Given the description of an element on the screen output the (x, y) to click on. 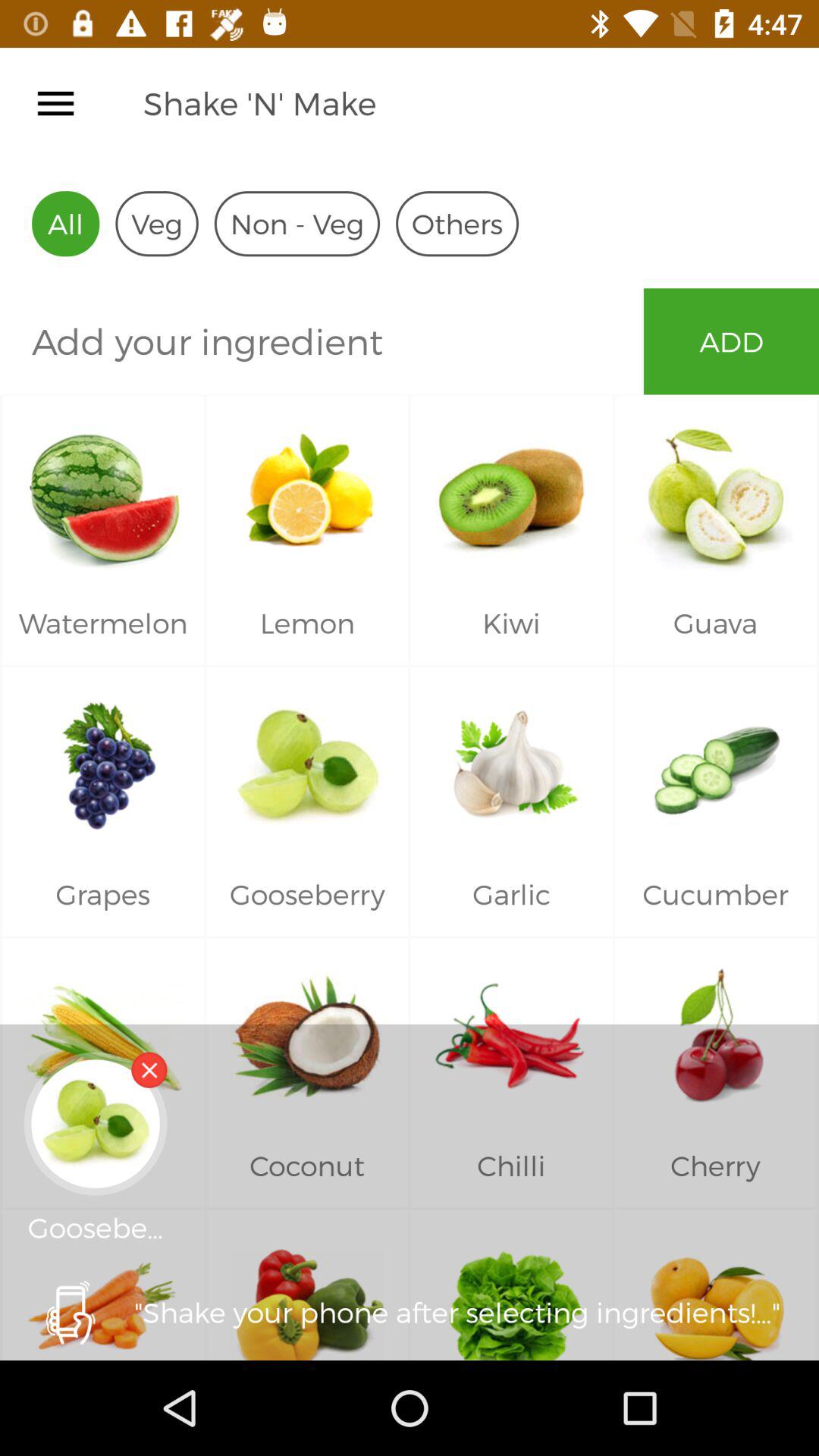
delete image (149, 1069)
